Given the description of an element on the screen output the (x, y) to click on. 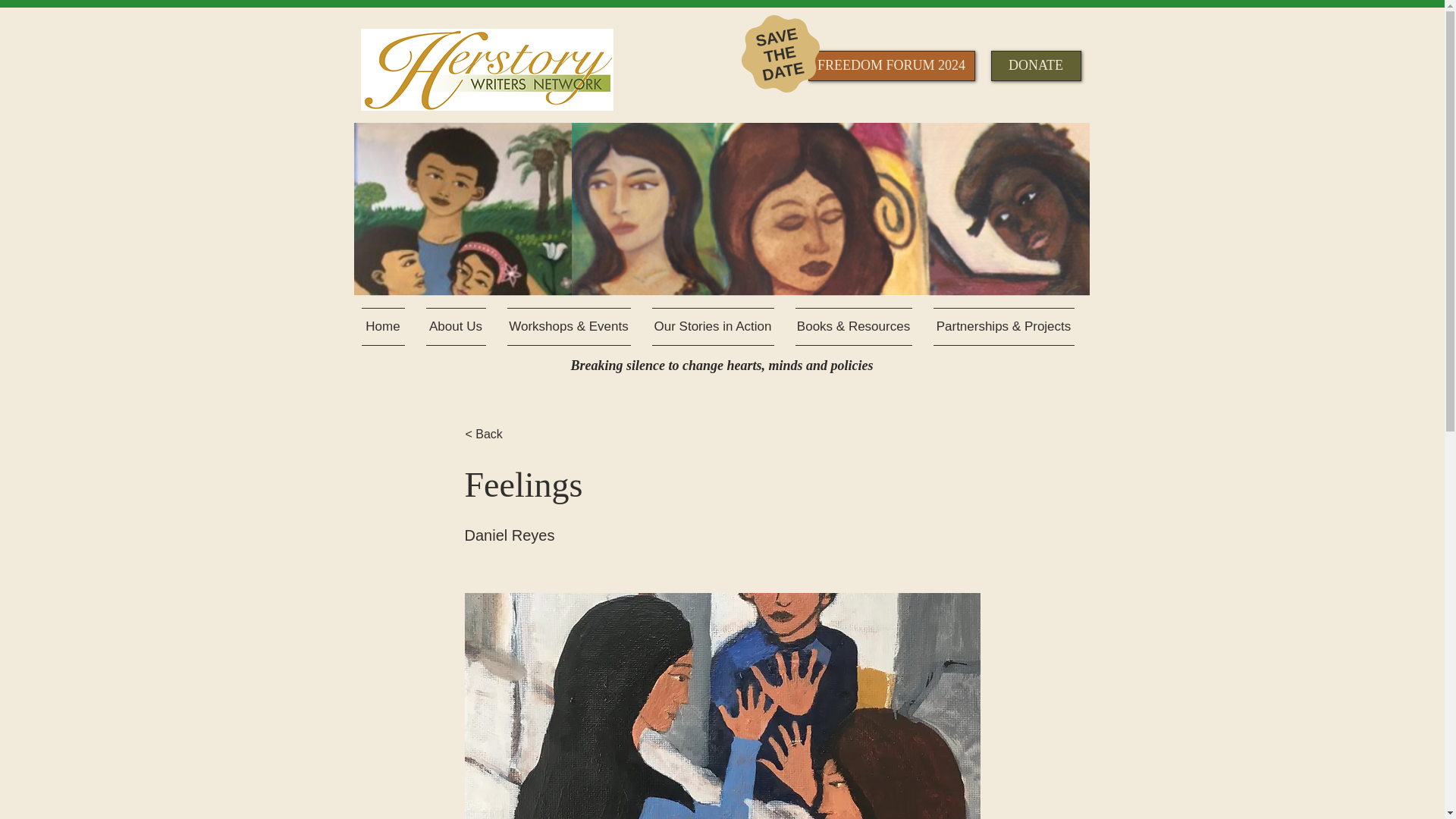
FREEDOM FORUM 2024 (891, 65)
Picture1.png (721, 208)
DONATE (1035, 65)
Home (387, 326)
